Given the description of an element on the screen output the (x, y) to click on. 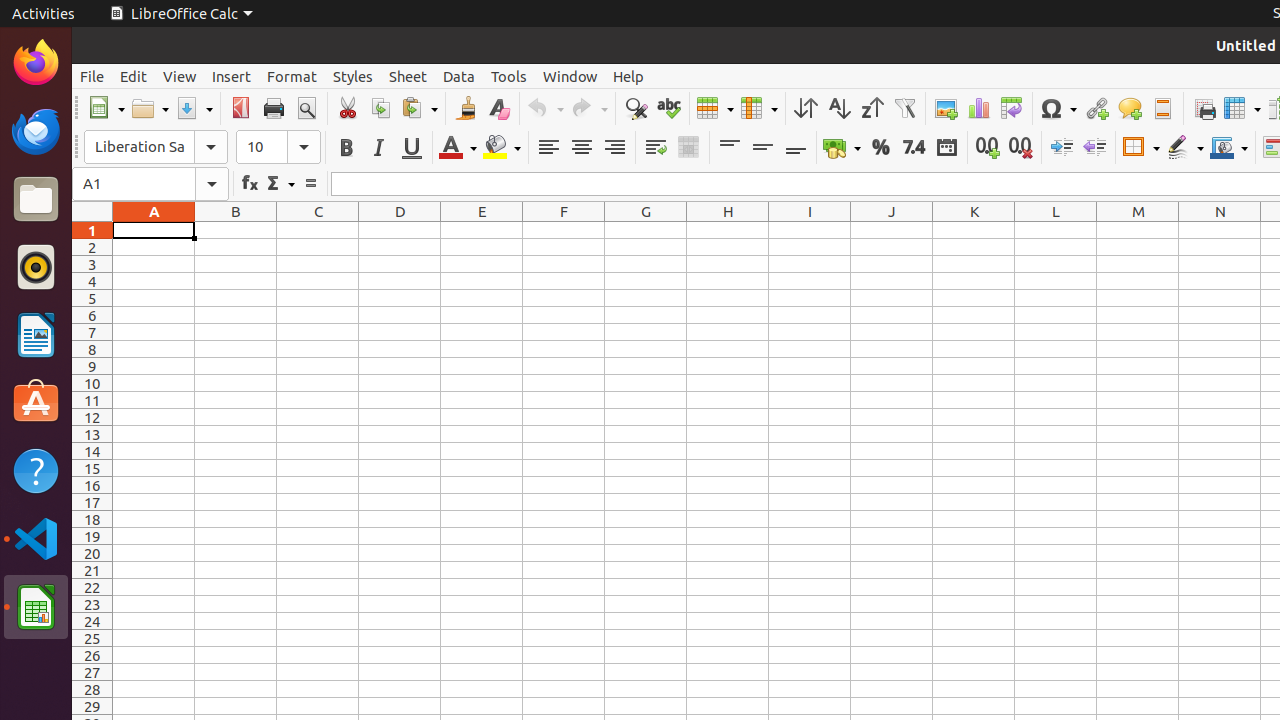
Paste Element type: push-button (419, 108)
Pivot Table Element type: push-button (1011, 108)
Sort Ascending Element type: push-button (838, 108)
Wrap Text Element type: push-button (655, 147)
Font Name Element type: combo-box (156, 147)
